Given the description of an element on the screen output the (x, y) to click on. 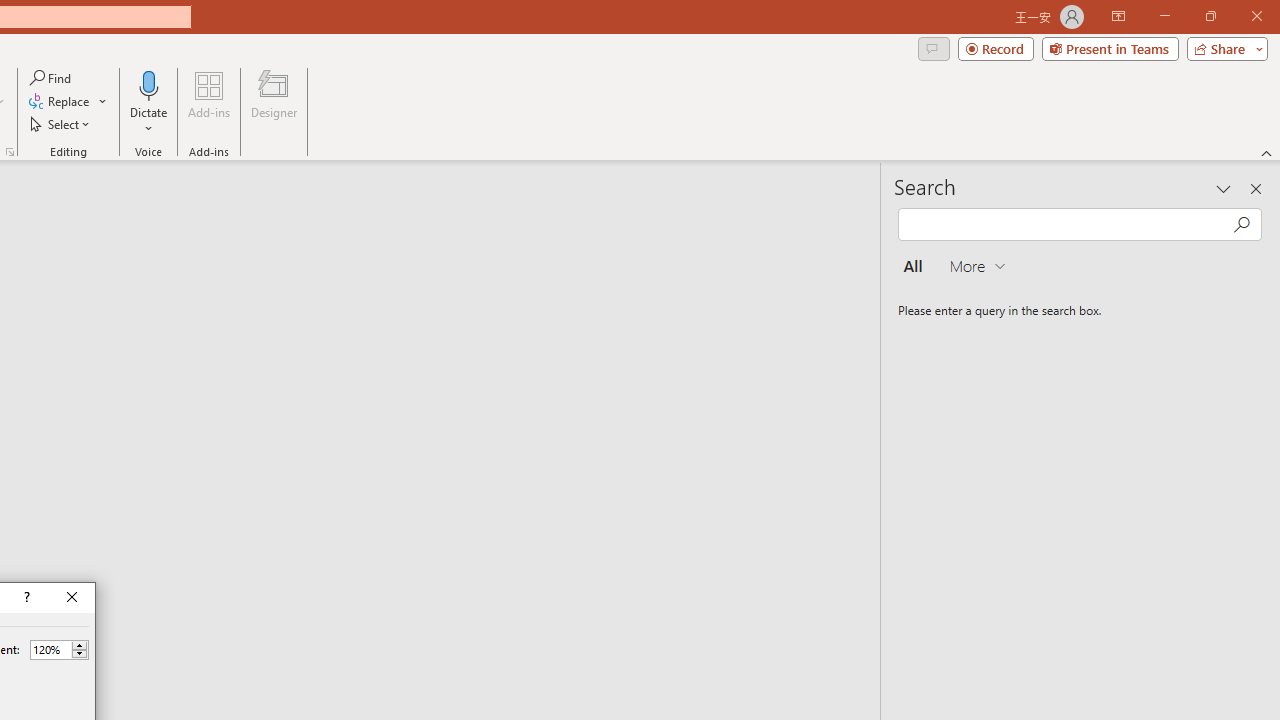
Context help (25, 597)
Percent (50, 649)
Percent (59, 650)
More (79, 645)
